Given the description of an element on the screen output the (x, y) to click on. 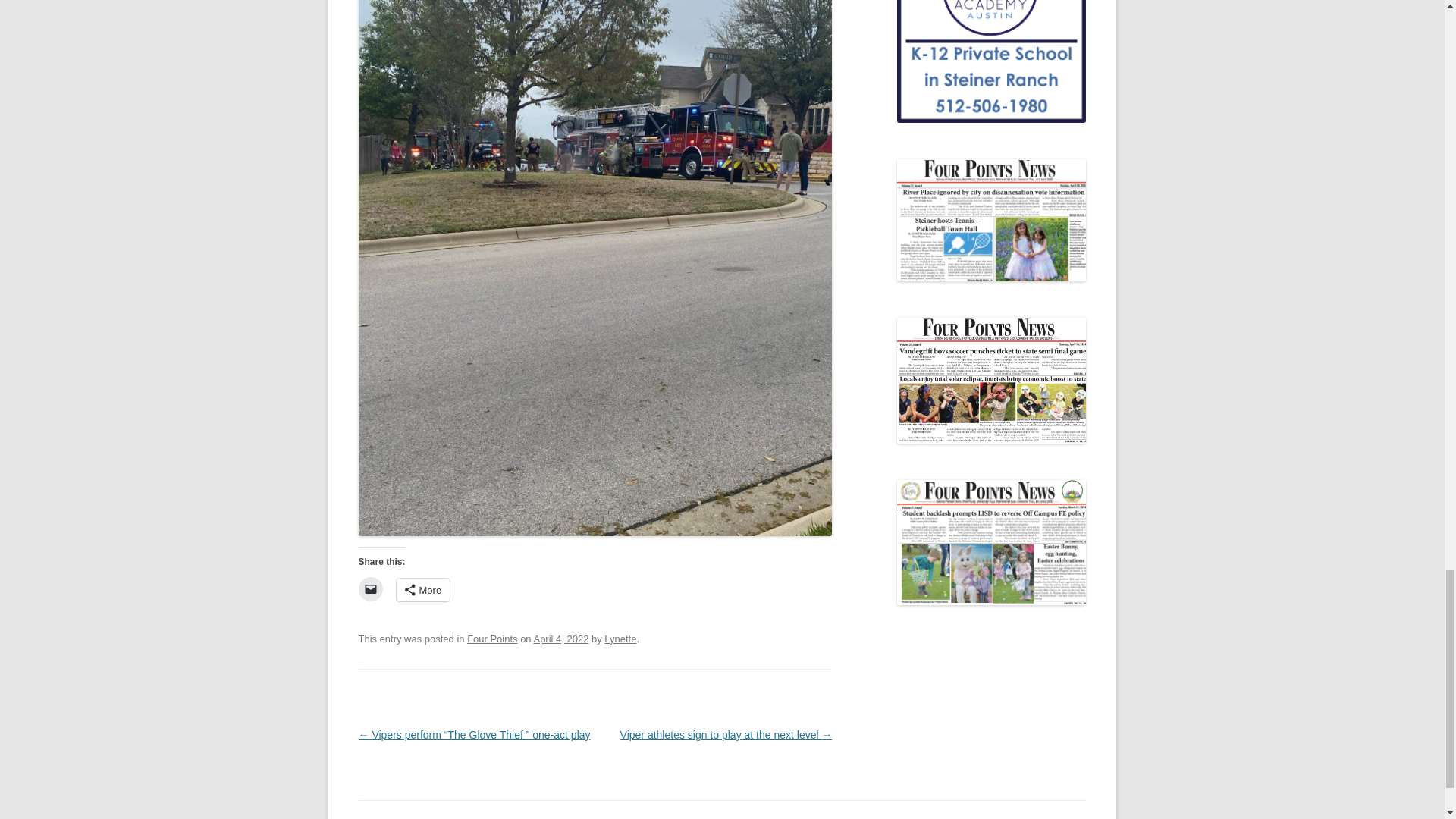
More (422, 589)
Click to email a link to a friend (369, 589)
View all posts by Lynette (620, 638)
Lynette (620, 638)
April 4, 2022 (560, 638)
11:46 am (560, 638)
Four Points (491, 638)
